Given the description of an element on the screen output the (x, y) to click on. 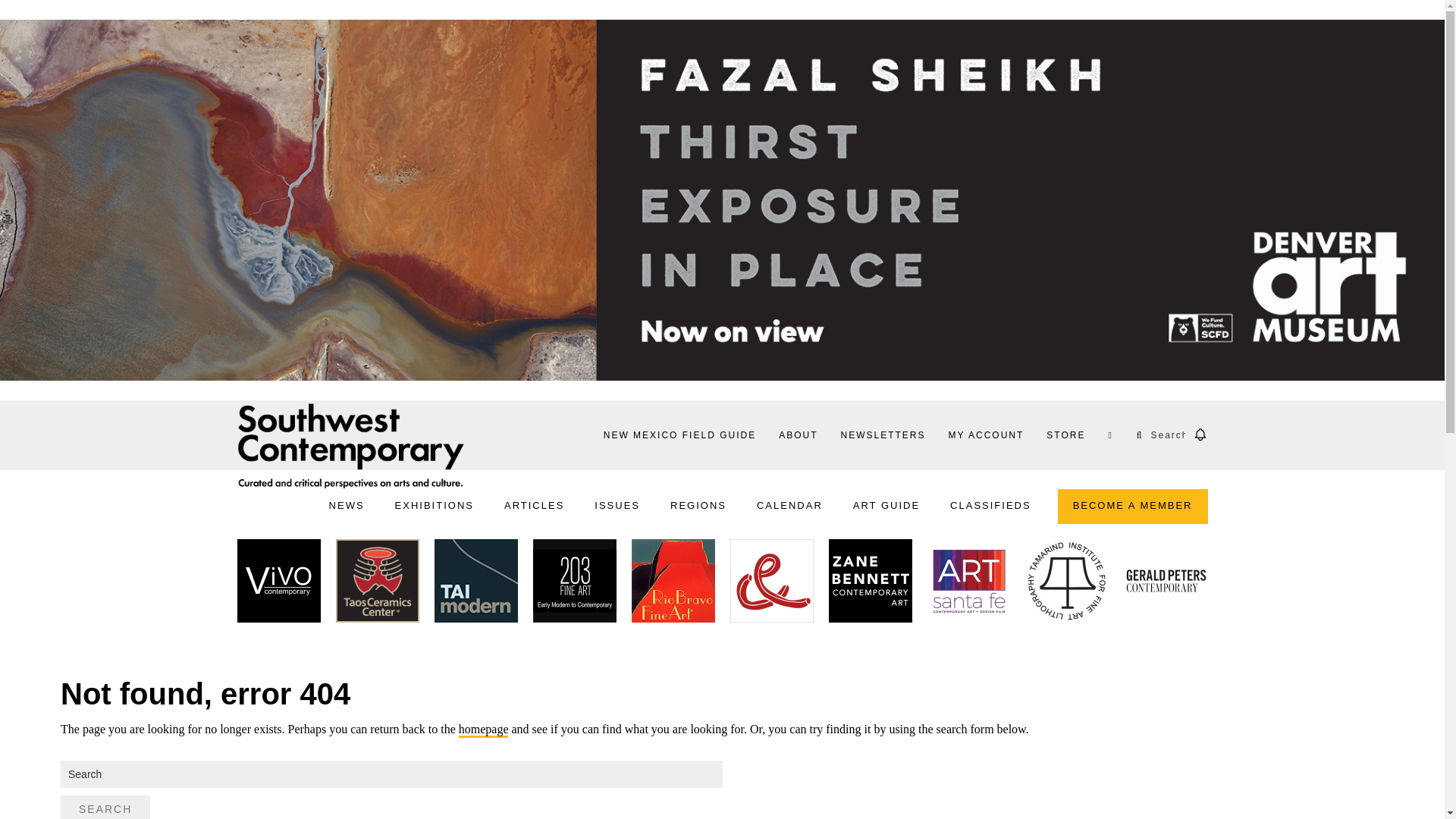
EXHIBITIONS (434, 506)
ABOUT (797, 435)
Art Santa Fe  (968, 583)
Gerald Peters Contemporary Logo (1165, 583)
NEW MEXICO FIELD GUIDE (679, 435)
Search (105, 807)
ARTICLES (533, 506)
Southwest Contemporary (349, 445)
Search (44, 13)
NEWSLETTERS (882, 435)
TAI Modern Logo (474, 583)
Taos Ceramics Center Logo (376, 583)
NEWS (347, 506)
MY ACCOUNT (986, 435)
RioBravoFineArt Gallery Logo (672, 583)
